Given the description of an element on the screen output the (x, y) to click on. 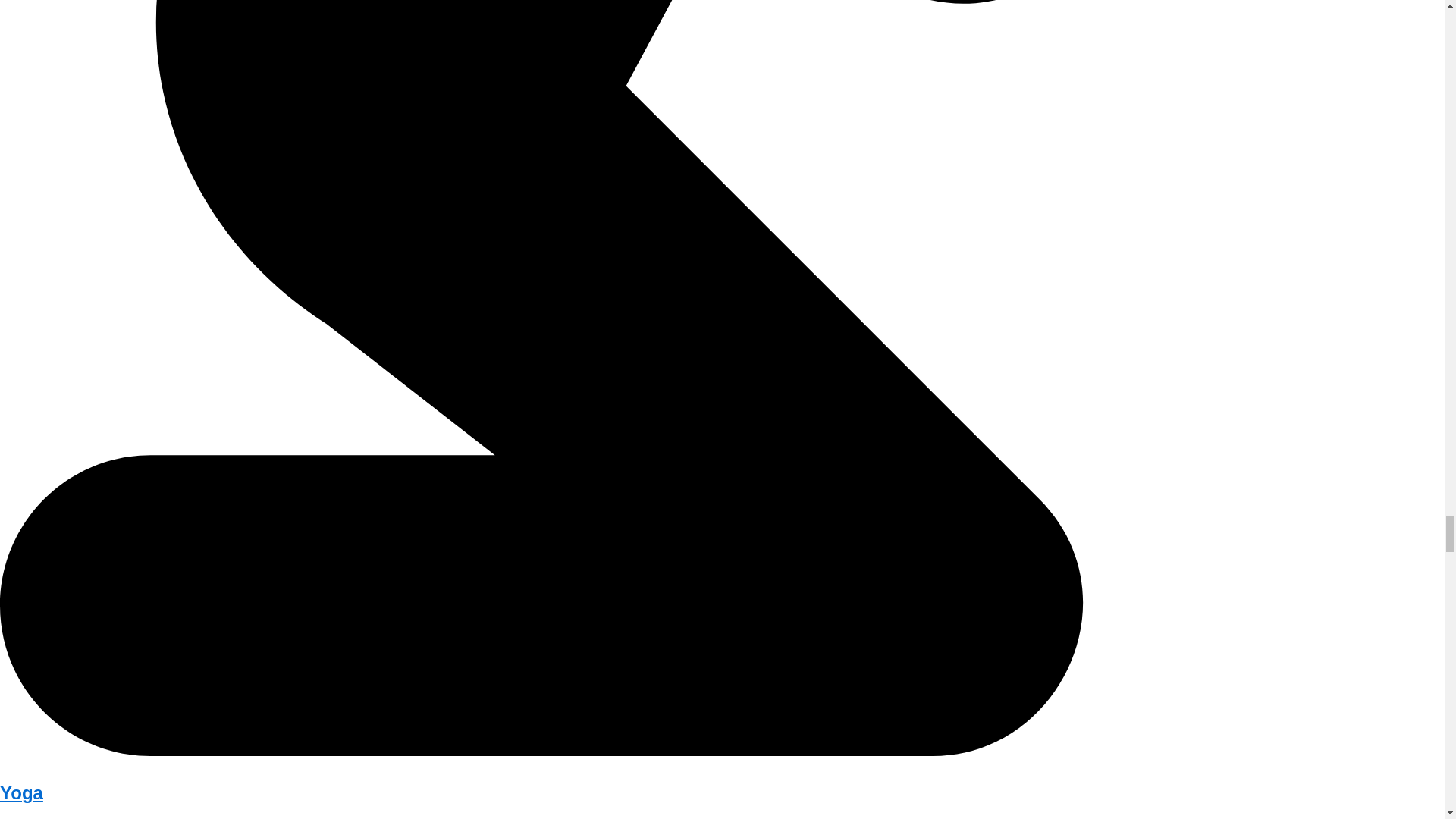
Yoga (21, 792)
